Given the description of an element on the screen output the (x, y) to click on. 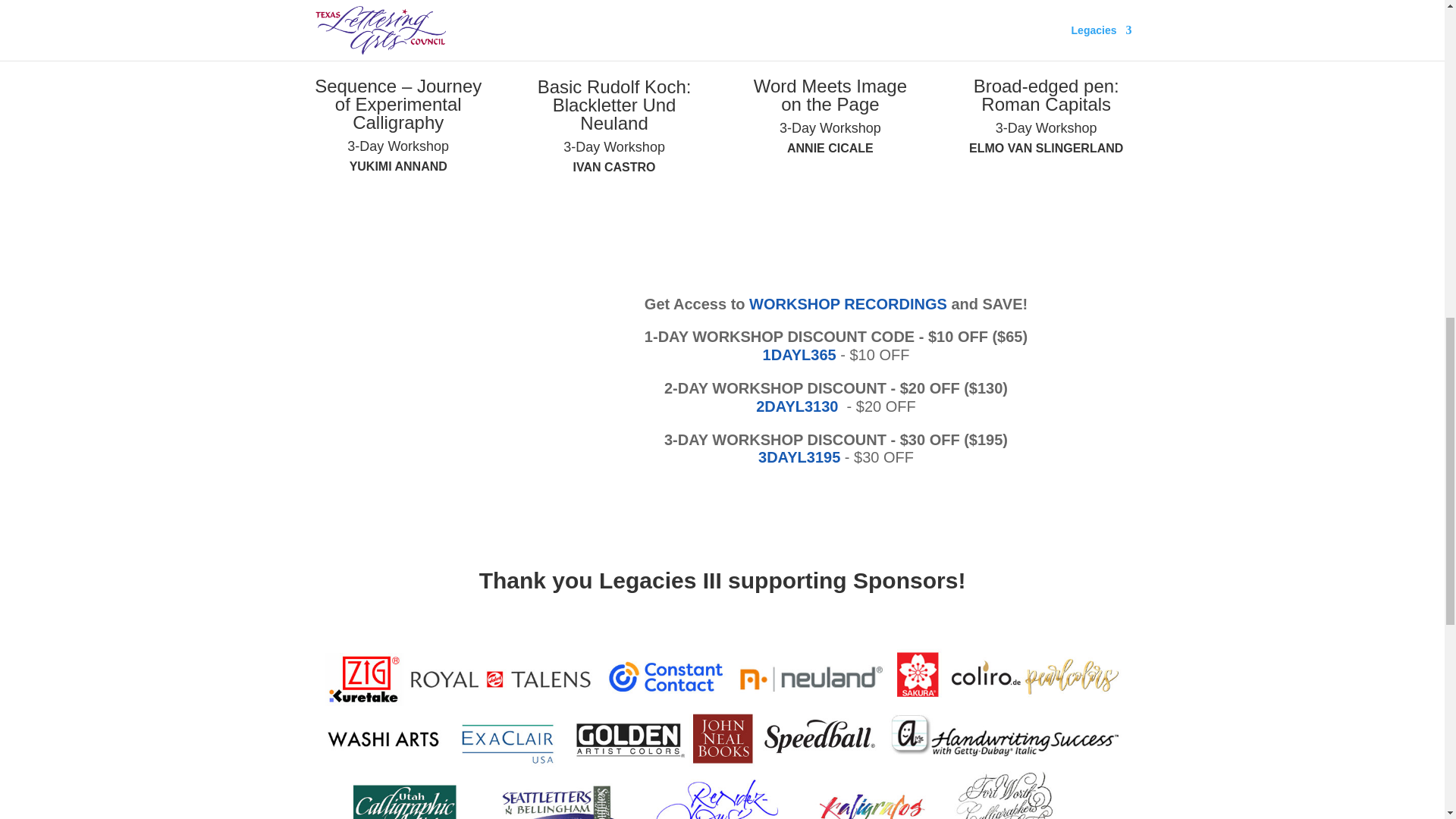
1DAYL365 (801, 354)
3DAYL3195 (799, 457)
1DAYL365 (801, 354)
AnnandART (398, 27)
Captura de pantalla 2021-04-01 a las 18.22.56 - Ivan Castro (613, 27)
2DAYL3130 (796, 406)
WORKSHOP RECORDINGS (848, 303)
VanSlingerland3d (1045, 27)
CicaleART (829, 27)
